Given the description of an element on the screen output the (x, y) to click on. 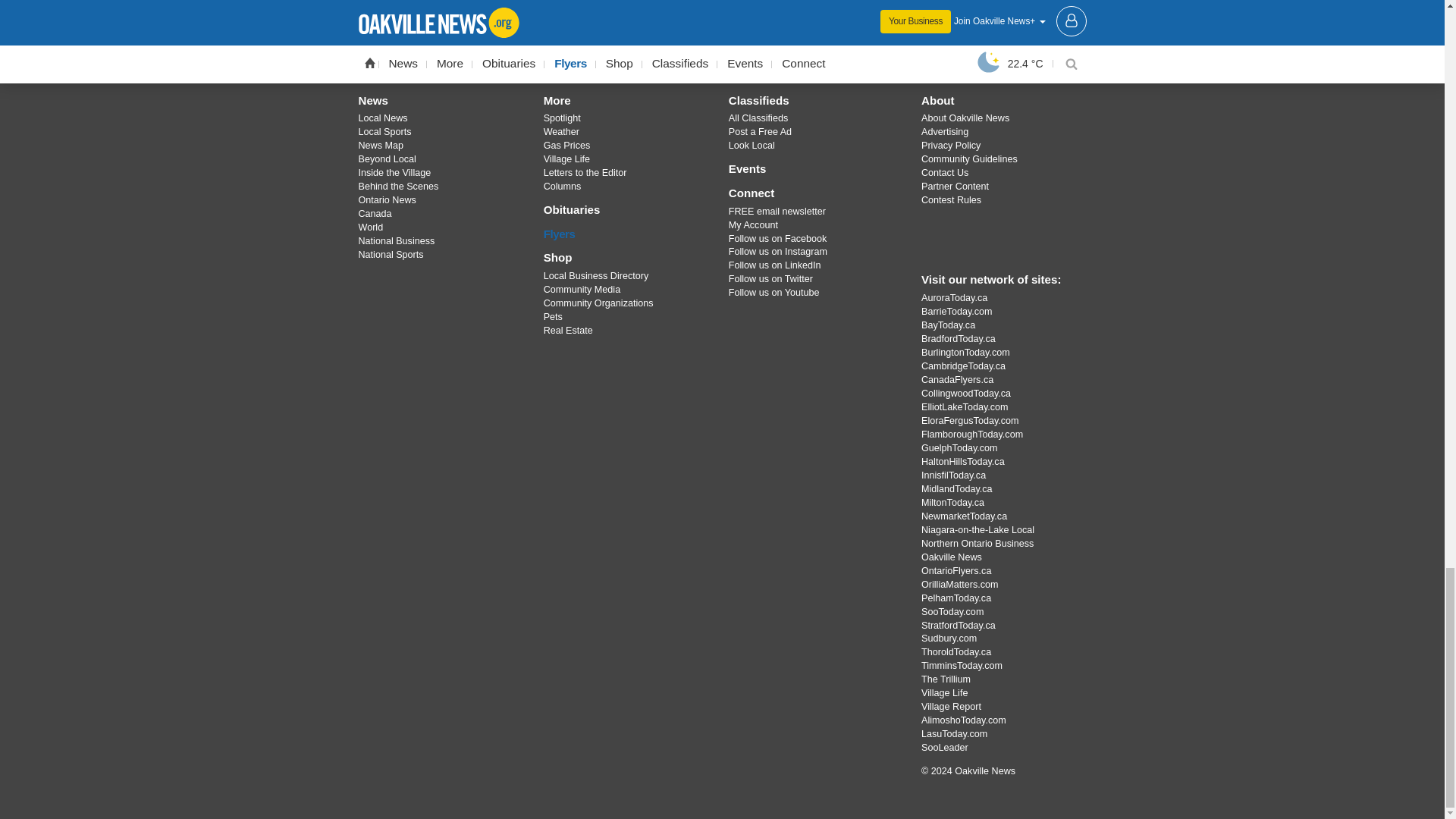
YouTube (760, 46)
Facebook (644, 46)
Instagram (721, 46)
LinkedIn (800, 46)
X (683, 46)
